Given the description of an element on the screen output the (x, y) to click on. 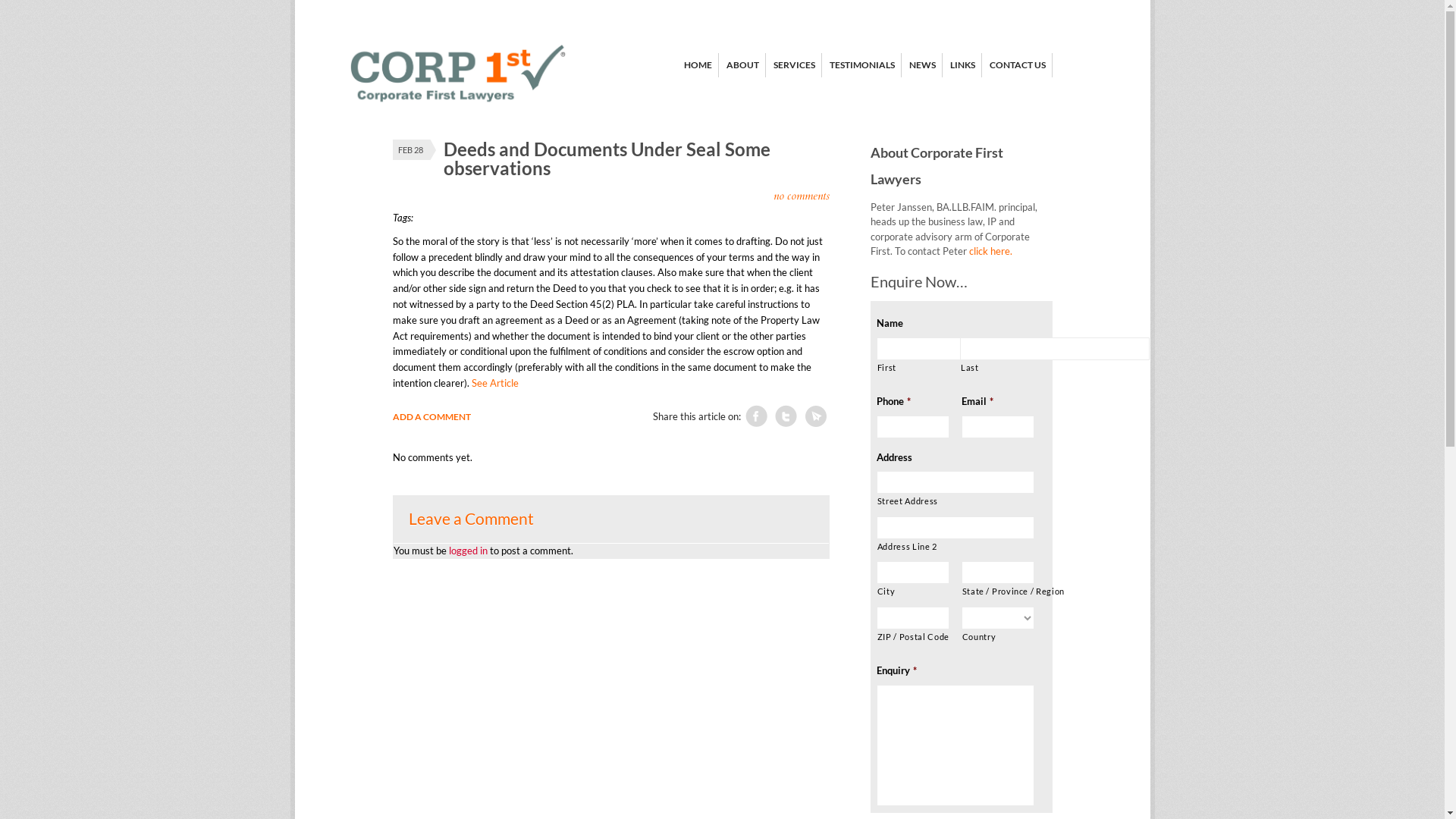
NEWS Element type: text (921, 65)
click here. Element type: text (990, 250)
  Element type: text (814, 415)
no comments Element type: text (801, 195)
LINKS Element type: text (961, 65)
HOME Element type: text (698, 65)
TESTIMONIALS Element type: text (861, 65)
ABOUT Element type: text (742, 65)
  Element type: text (755, 415)
Outsourced In-House Counsel at Affordable Rates Element type: hover (457, 107)
SERVICES Element type: text (794, 65)
  Element type: text (786, 415)
logged in Element type: text (467, 550)
CONTACT US Element type: text (1016, 65)
ADD A COMMENT Element type: text (436, 416)
See Article Element type: text (494, 382)
